Given the description of an element on the screen output the (x, y) to click on. 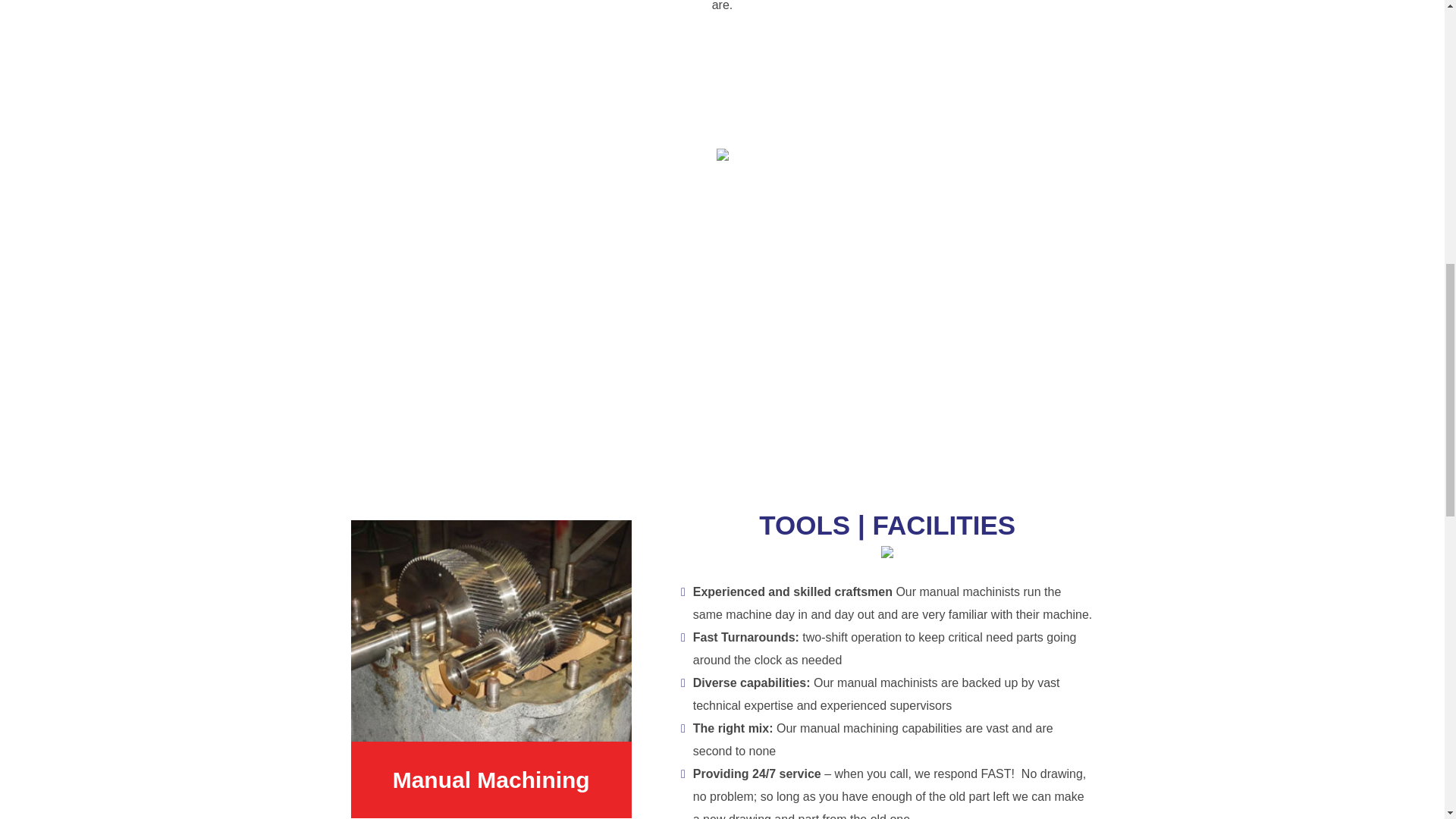
border-image (886, 551)
border-image (722, 154)
manual-machining (490, 631)
